Given the description of an element on the screen output the (x, y) to click on. 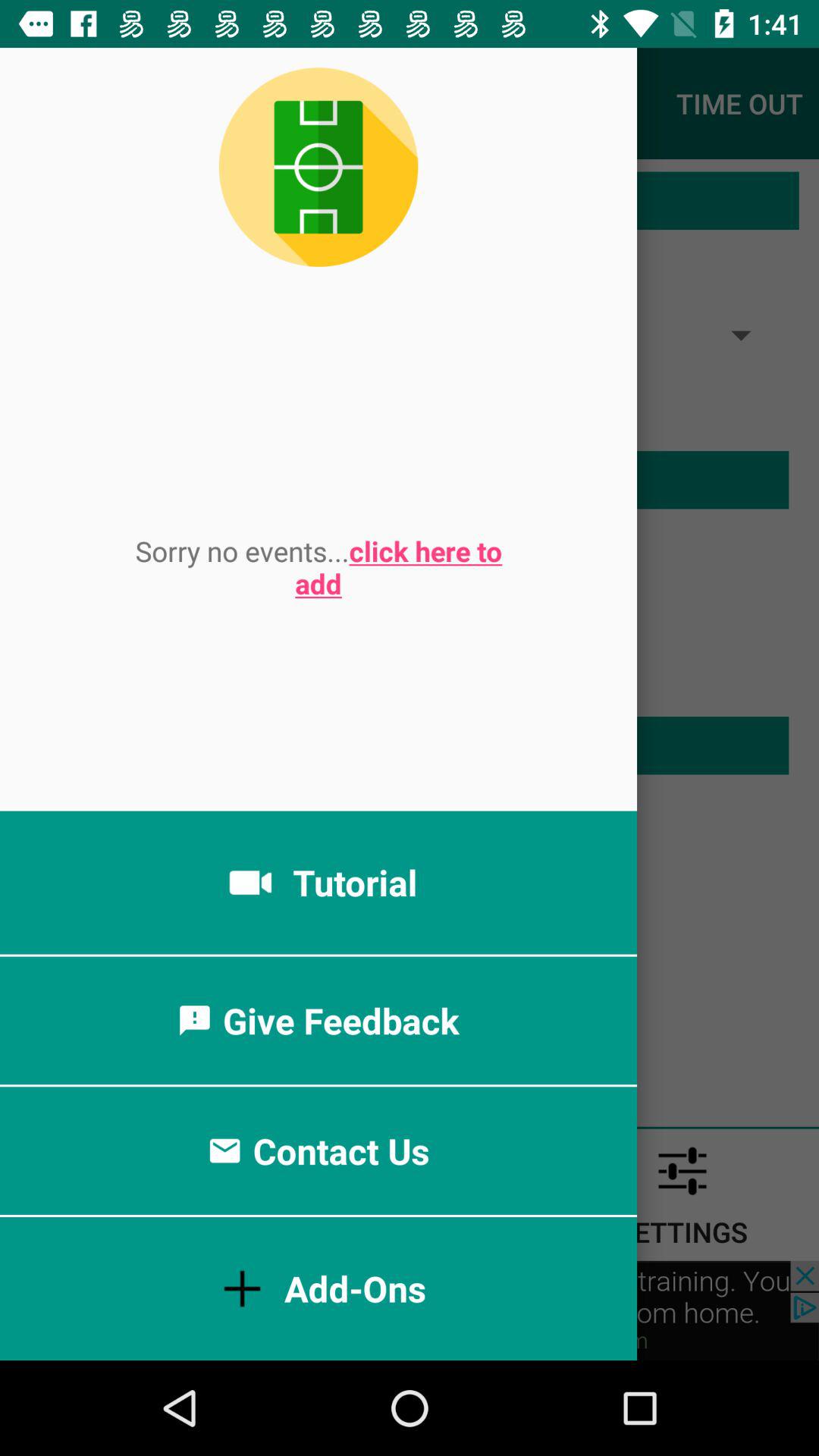
select on the time out text (739, 103)
